Given the description of an element on the screen output the (x, y) to click on. 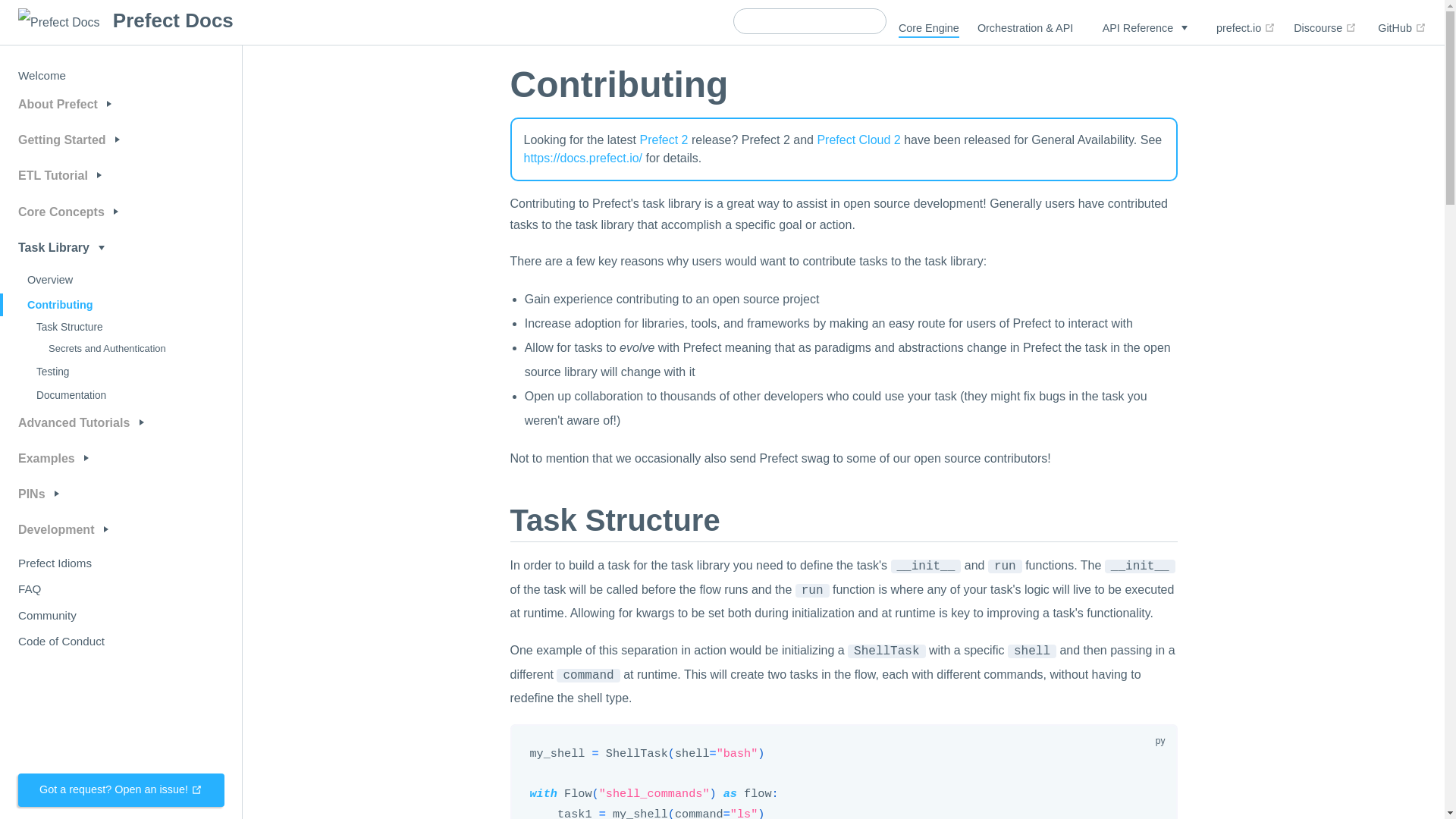
Secrets and Authentication (100, 348)
Overview (88, 280)
Code of Conduct (88, 640)
Documentation (94, 395)
GitHub (1401, 27)
Prefect Cloud 2 (857, 139)
Testing (94, 372)
Welcome (88, 74)
Prefect 2 (663, 139)
Community (88, 615)
Contributing (88, 304)
prefect.io (1245, 27)
Got a request? Open an issue! (120, 789)
Core Engine (928, 28)
FAQ (88, 589)
